Given the description of an element on the screen output the (x, y) to click on. 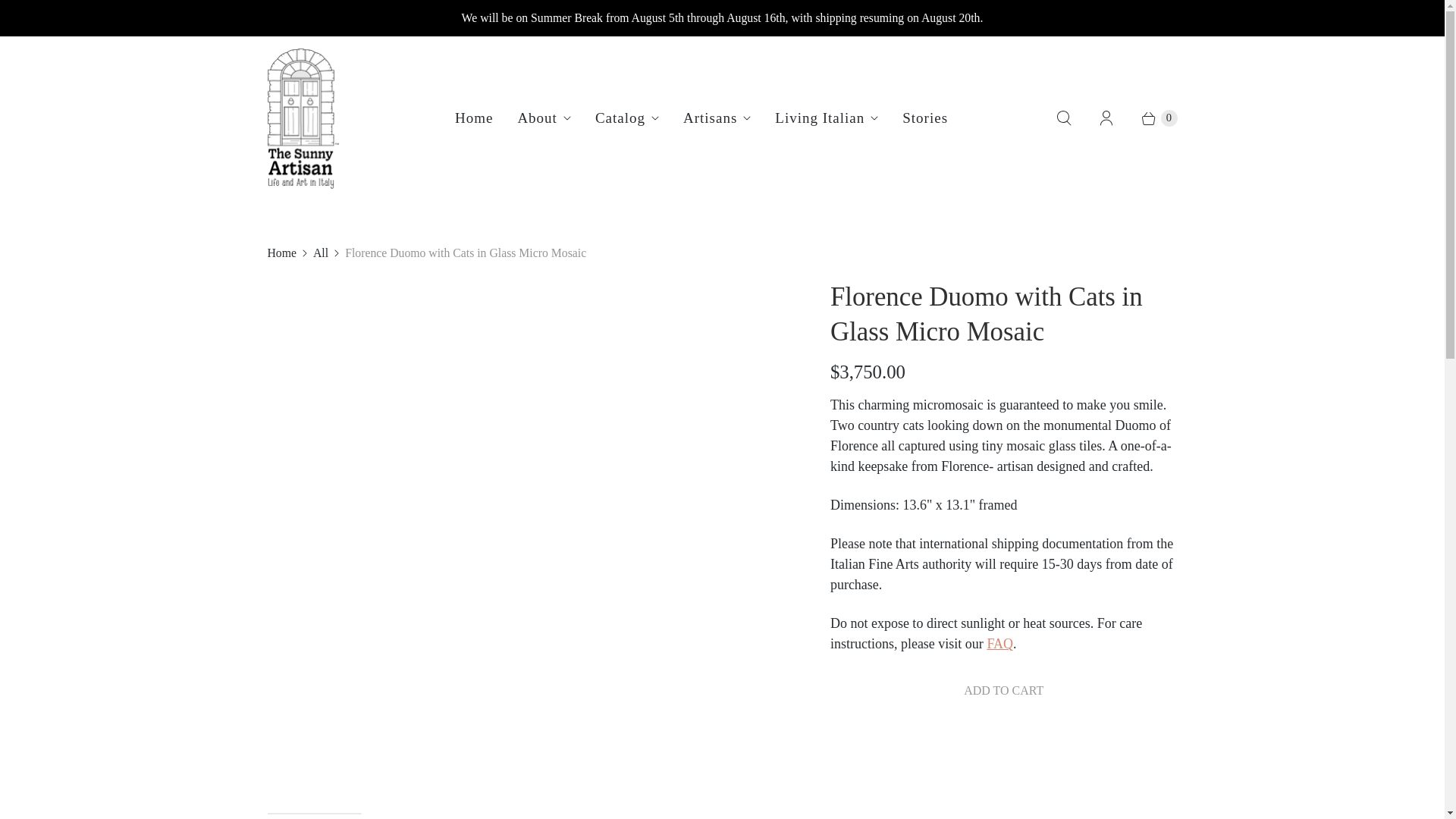
0 (1151, 117)
Home (473, 118)
Florence Duomo with Cats in Glass Micro Mosaic (133, 290)
The Sunny Artisan FAQ Care Instructions (1000, 643)
Stories (924, 118)
Florence Duomo with Cats in Glass Micro Mosaic (526, 290)
